Given the description of an element on the screen output the (x, y) to click on. 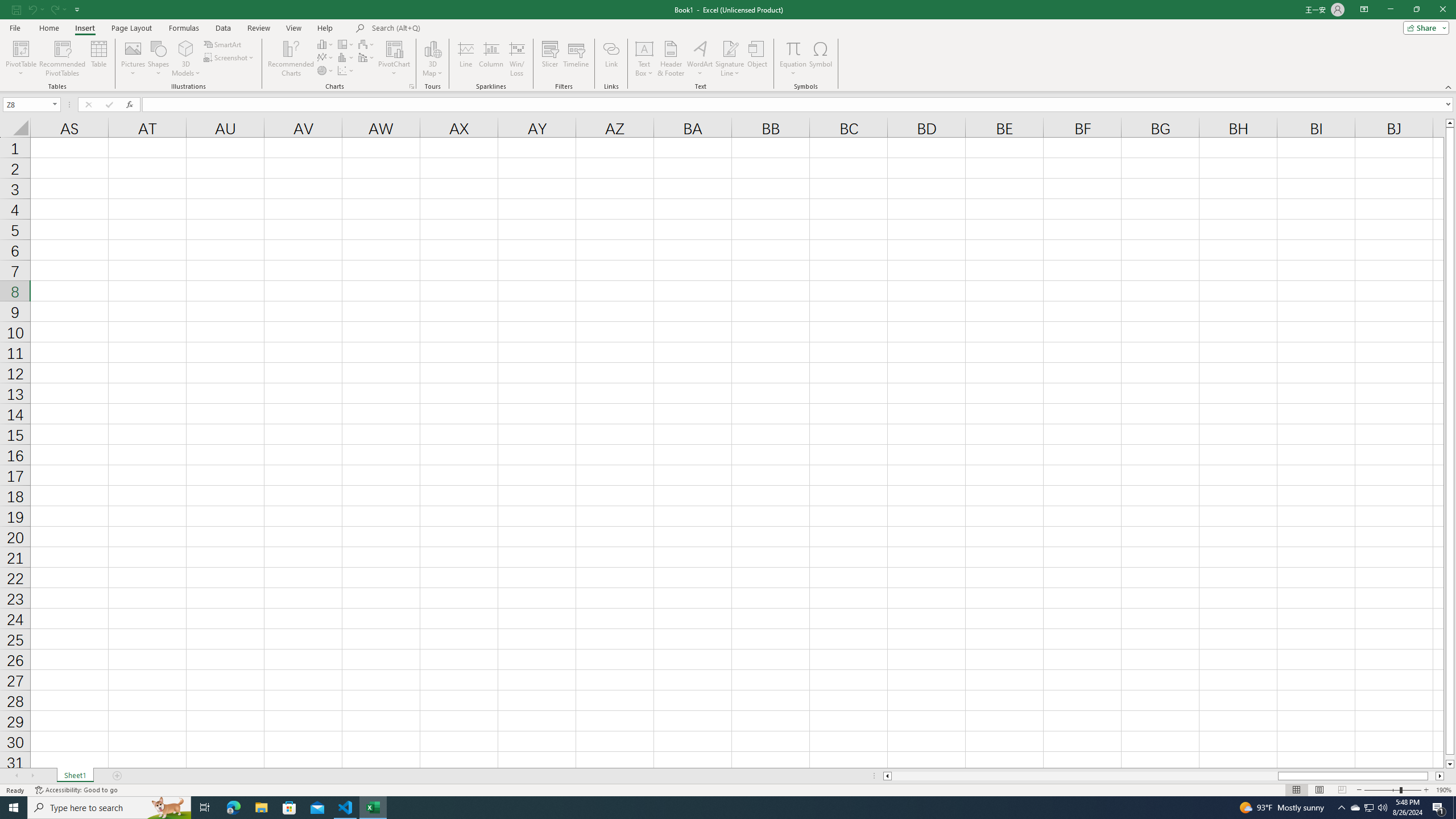
Insert Hierarchy Chart (346, 44)
Insert Line or Area Chart (325, 56)
Share (1423, 27)
3D Map (432, 48)
Page Break Preview (1342, 790)
Zoom Out (1381, 790)
Class: MsoCommandBar (728, 45)
Scroll Left (16, 775)
3D Map (432, 58)
Customize Quick Access Toolbar (77, 9)
Column (491, 58)
Win/Loss (516, 58)
